Given the description of an element on the screen output the (x, y) to click on. 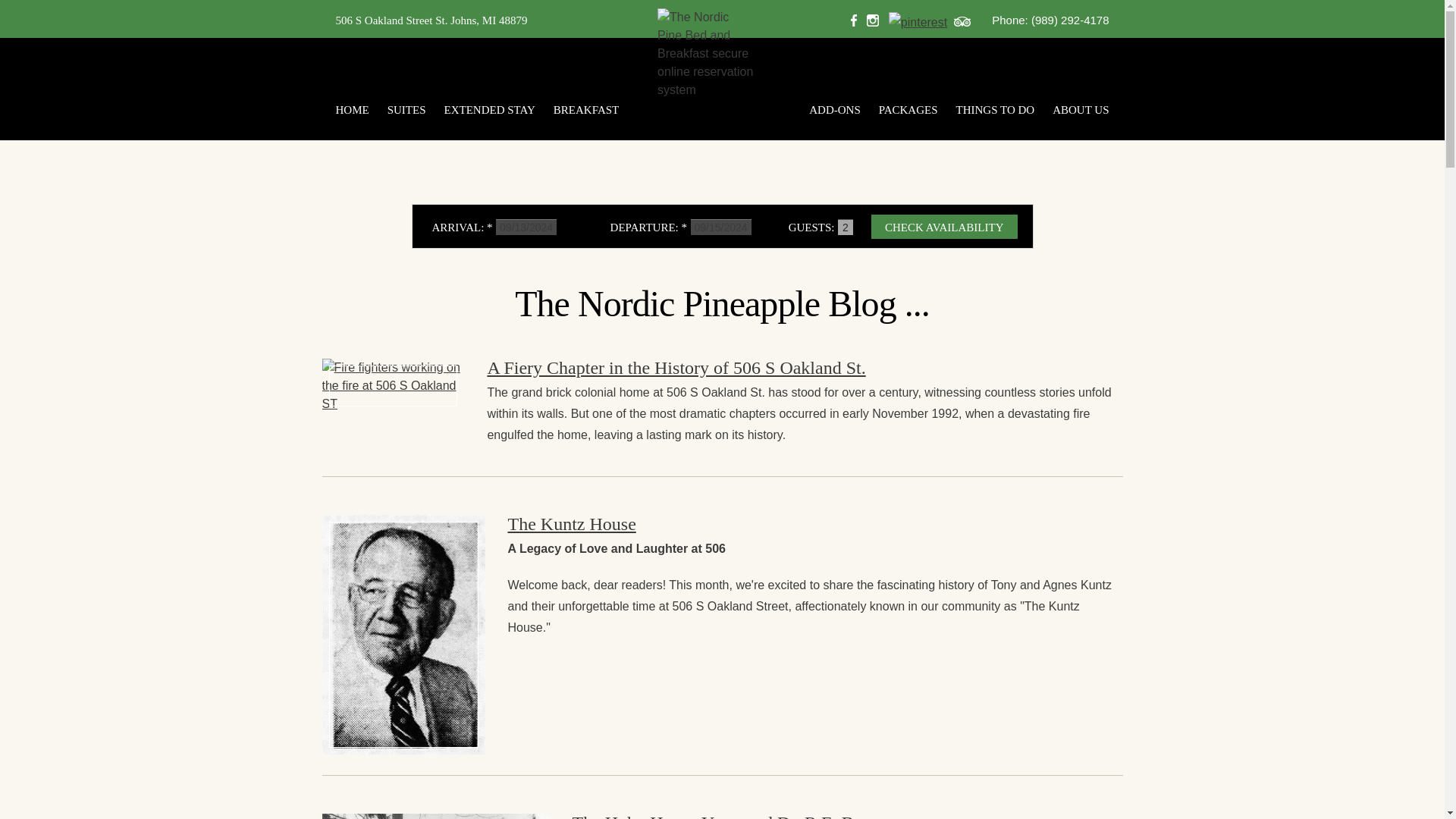
A Fiery Chapter in the History of 506 S Oakland St. (675, 367)
Skip to main content (55, 16)
HOME (355, 110)
BREAKFAST (671, 110)
Check Availability (943, 225)
The Kuntz House (572, 523)
ADD-ONS (834, 110)
THINGS TO DO (995, 110)
Check Availability (943, 225)
SUITES (406, 110)
